Given the description of an element on the screen output the (x, y) to click on. 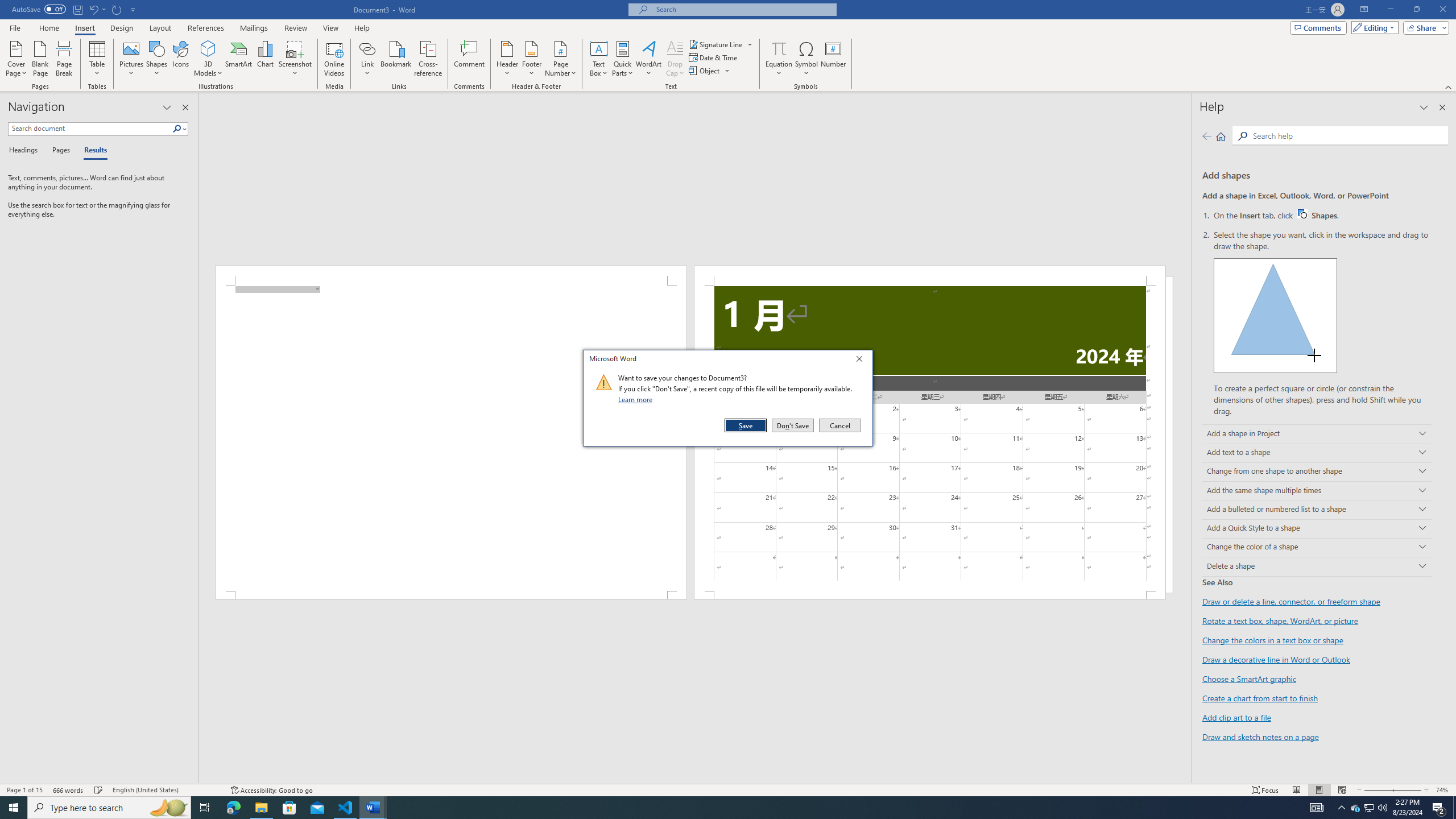
Start (13, 807)
Insert (83, 28)
Add a shape in Project (1316, 434)
AutoSave (38, 9)
Undo New Page (96, 9)
Save (746, 425)
Draw a decorative line in Word or Outlook (1275, 659)
Microsoft Edge (233, 807)
Microsoft search (742, 9)
Share (1423, 27)
Search (1347, 135)
Class: NetUIImage (603, 382)
Language English (United States) (165, 790)
